Given the description of an element on the screen output the (x, y) to click on. 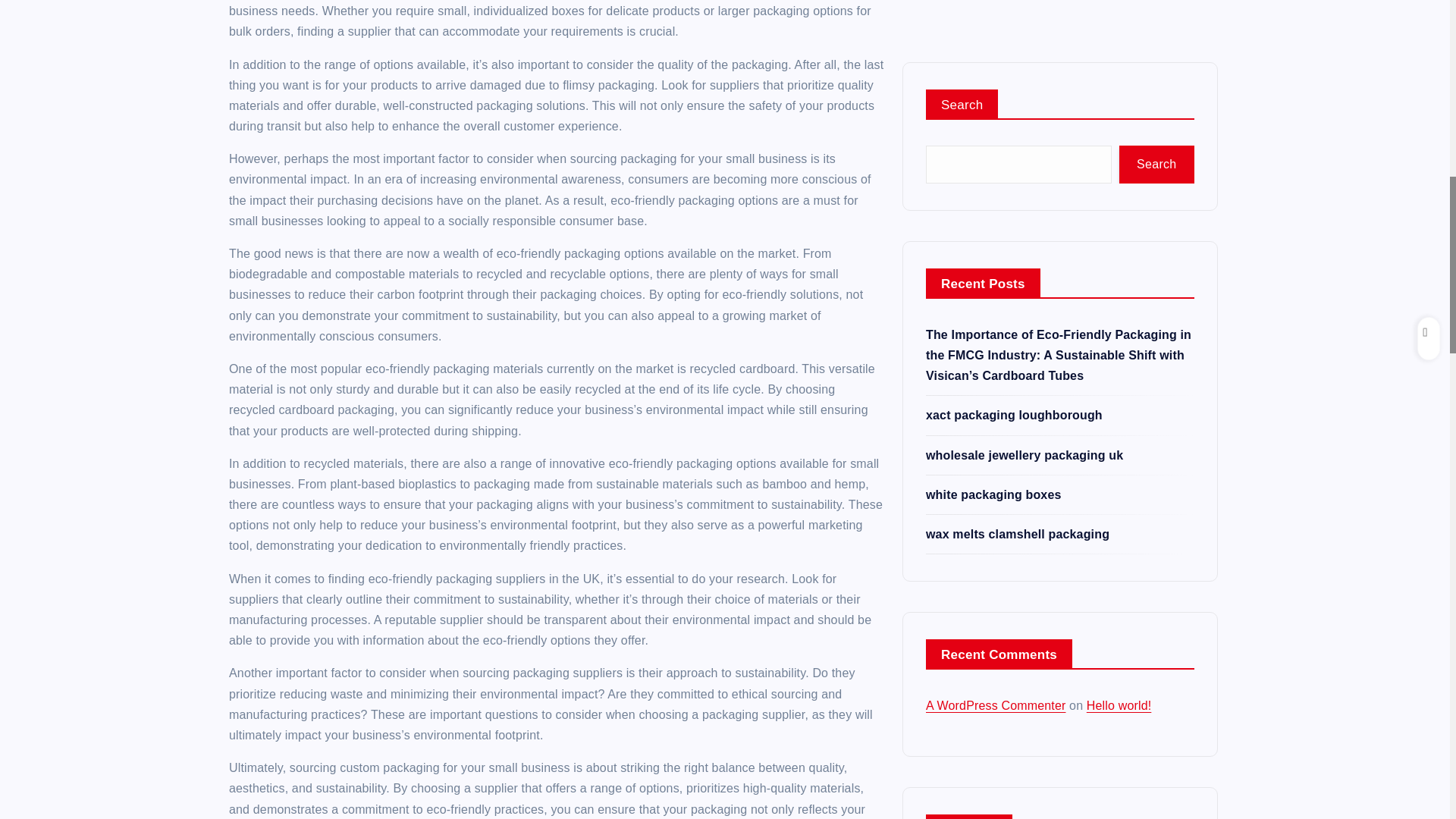
wholesale jewellery packaging uk (1024, 69)
xact packaging loughborough (1014, 29)
white packaging boxes (993, 109)
wax melts clamshell packaging (1017, 148)
